Given the description of an element on the screen output the (x, y) to click on. 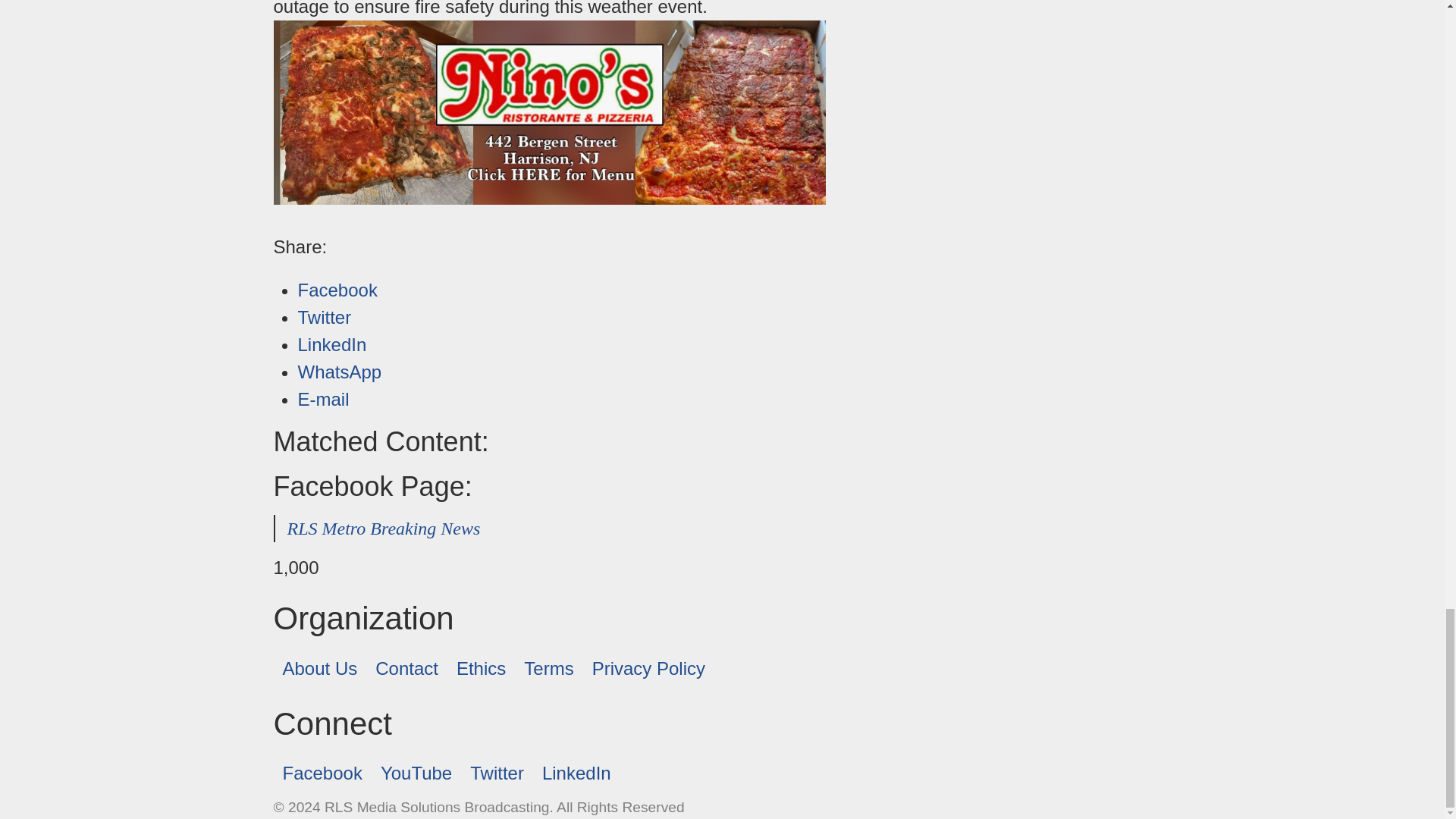
Twitter (323, 317)
Ethics (480, 668)
Twitter Account (496, 773)
Contact (406, 668)
Contact Us (406, 668)
WhatsApp (339, 371)
Facebook (322, 773)
LinkedIn (331, 344)
LinkedIn (576, 773)
Terms (548, 668)
